Given the description of an element on the screen output the (x, y) to click on. 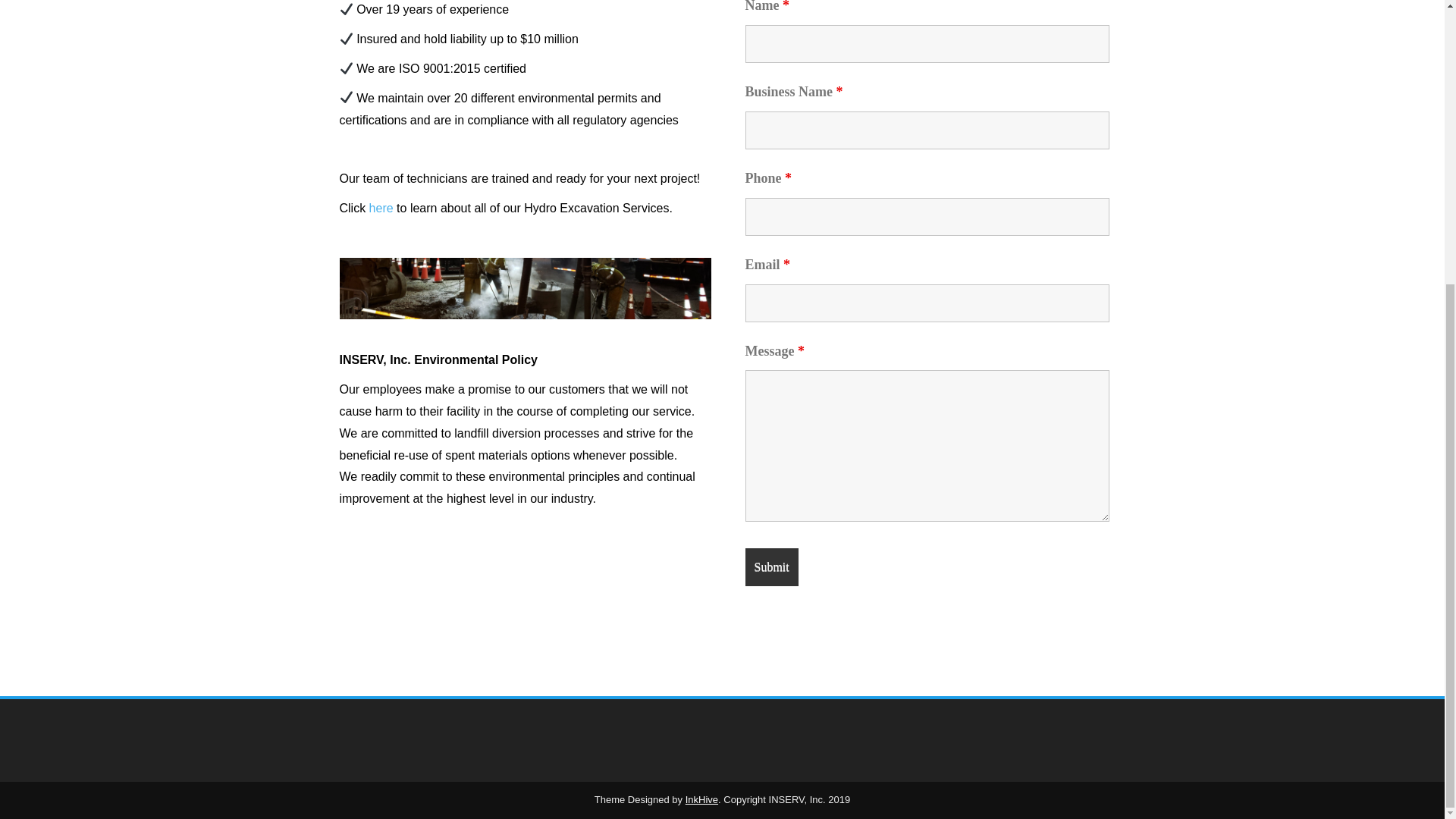
Submit (770, 565)
Submit (770, 566)
Hydro Blog Header (525, 288)
here (381, 207)
